Given the description of an element on the screen output the (x, y) to click on. 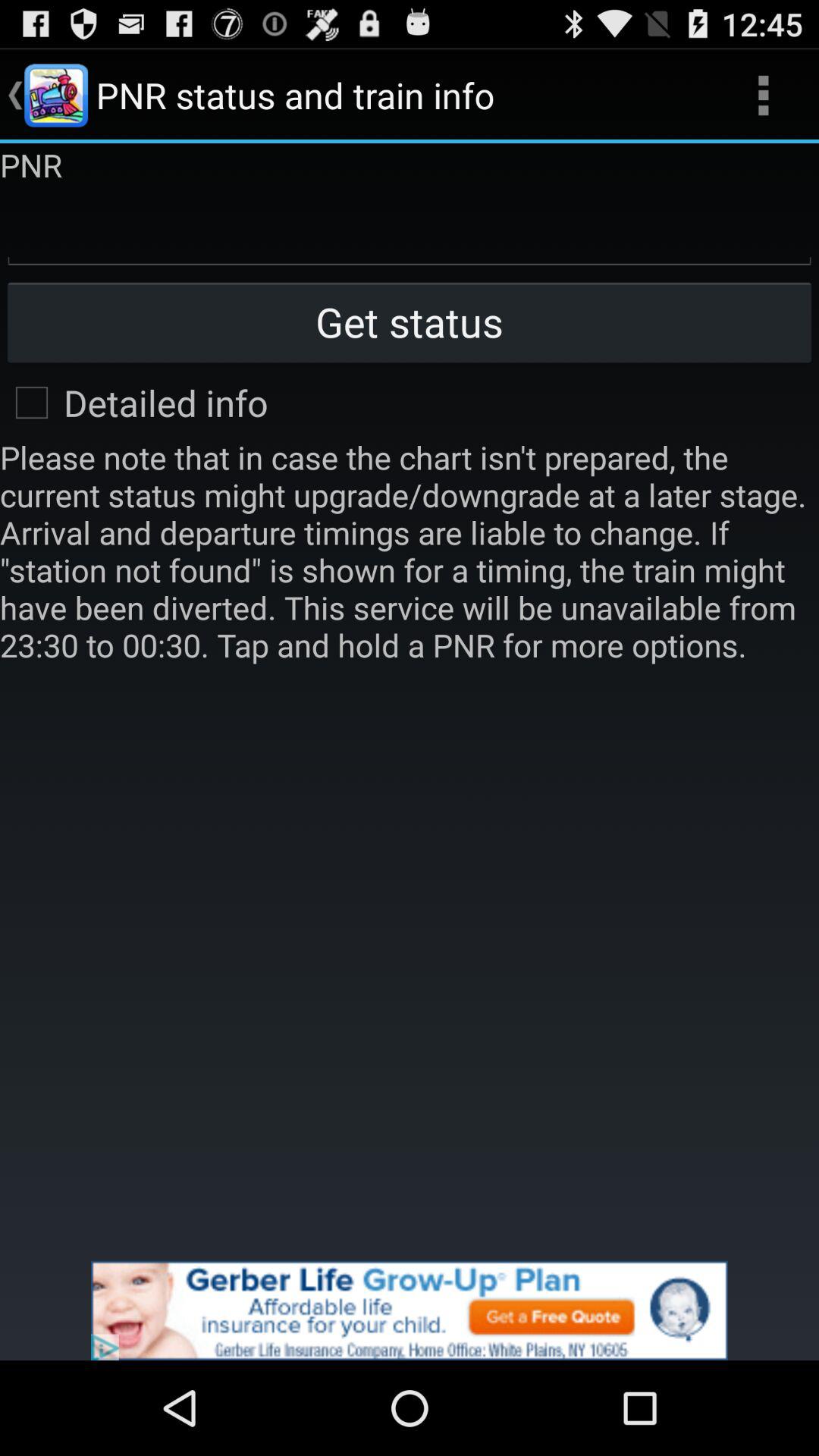
in app advertisement (409, 1310)
